Given the description of an element on the screen output the (x, y) to click on. 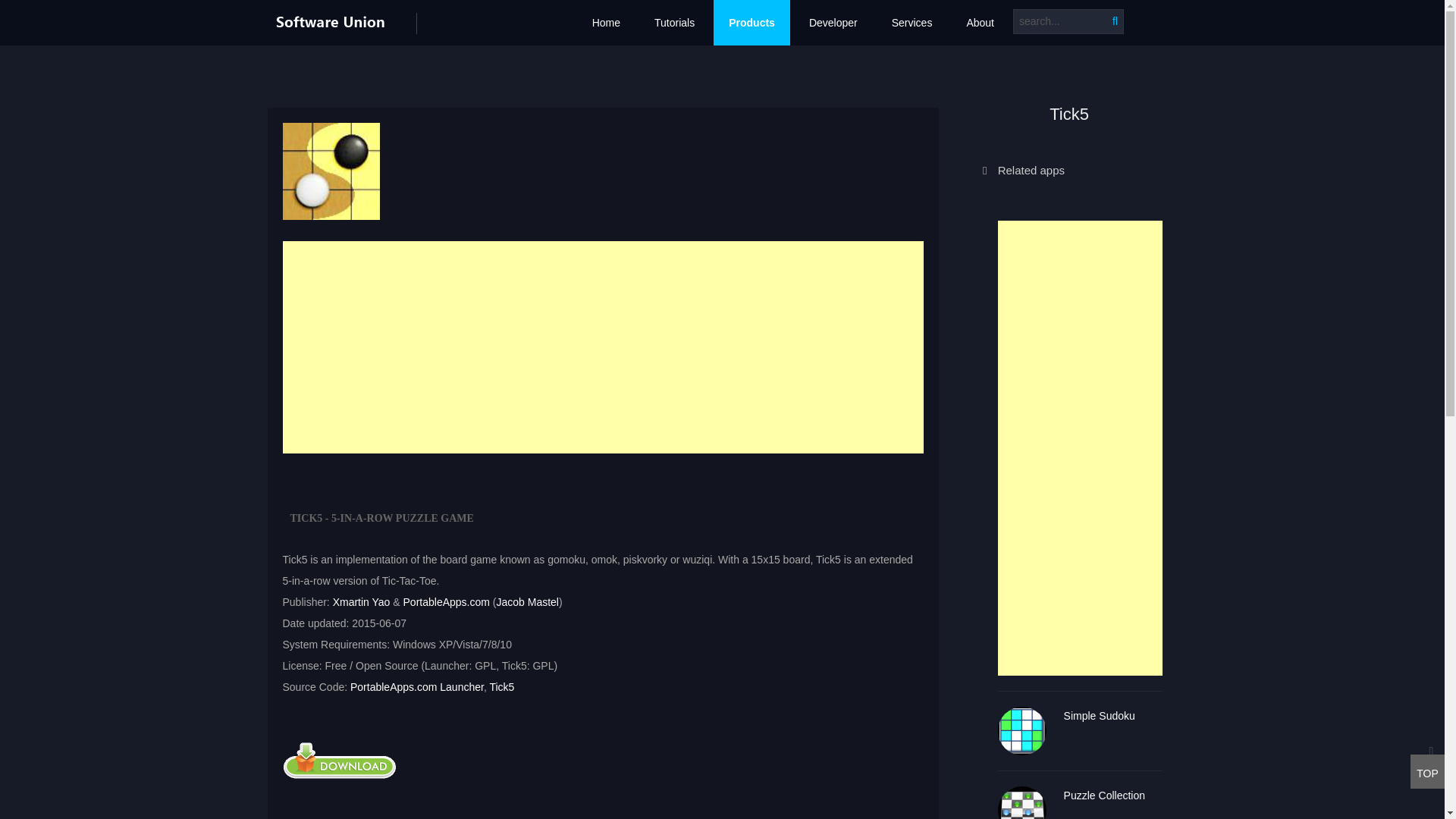
Services (911, 22)
Tick5 (330, 171)
Products (751, 22)
Puzzle Collection (1112, 795)
PortableApps.com Launcher (416, 686)
Home (605, 22)
About (979, 22)
Xmartin Yao (361, 602)
search... (1067, 21)
Developer (832, 22)
